Given the description of an element on the screen output the (x, y) to click on. 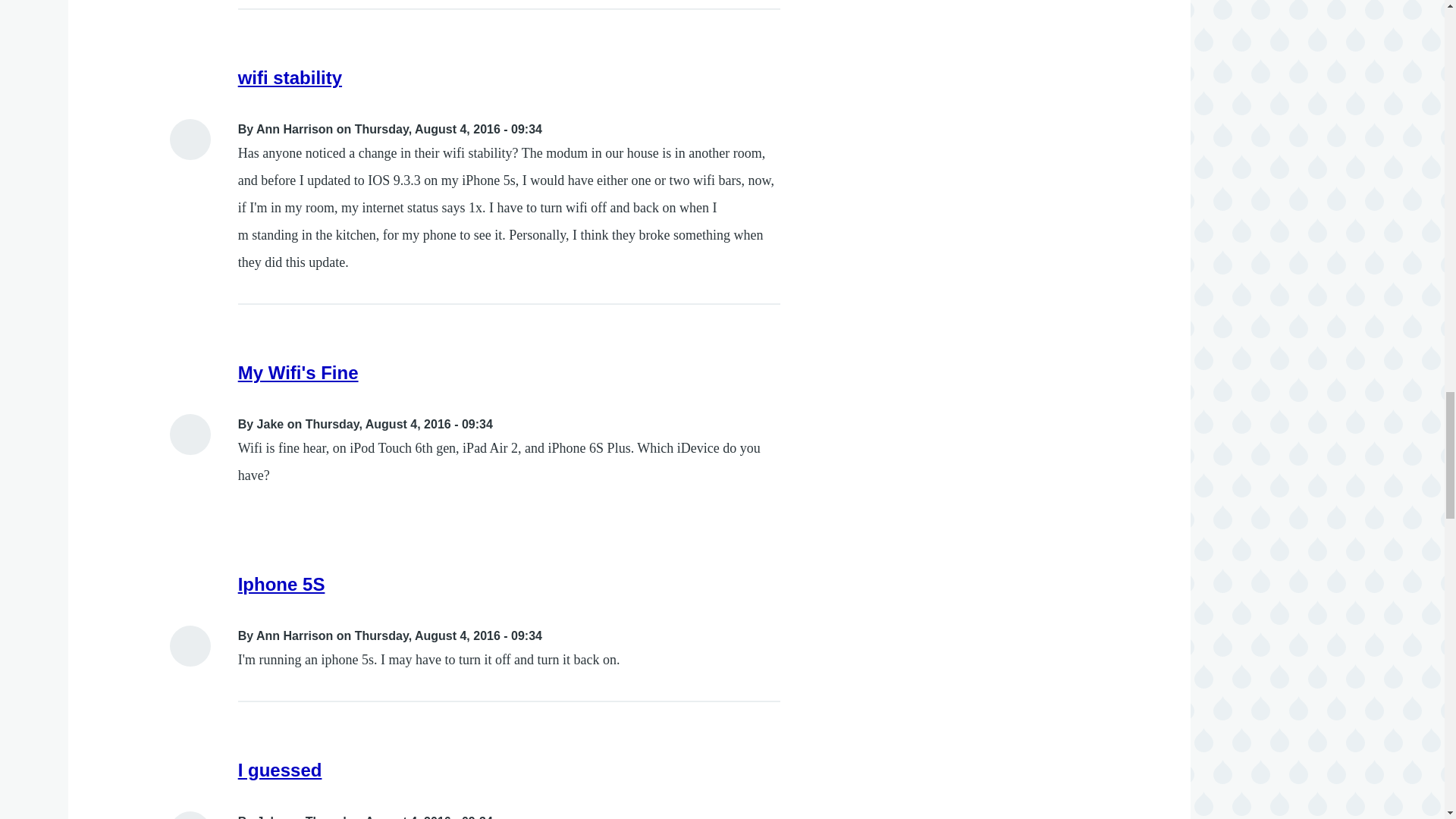
I guessed (279, 770)
Iphone 5S (281, 584)
My Wifi's Fine (298, 372)
wifi stability (290, 77)
